Given the description of an element on the screen output the (x, y) to click on. 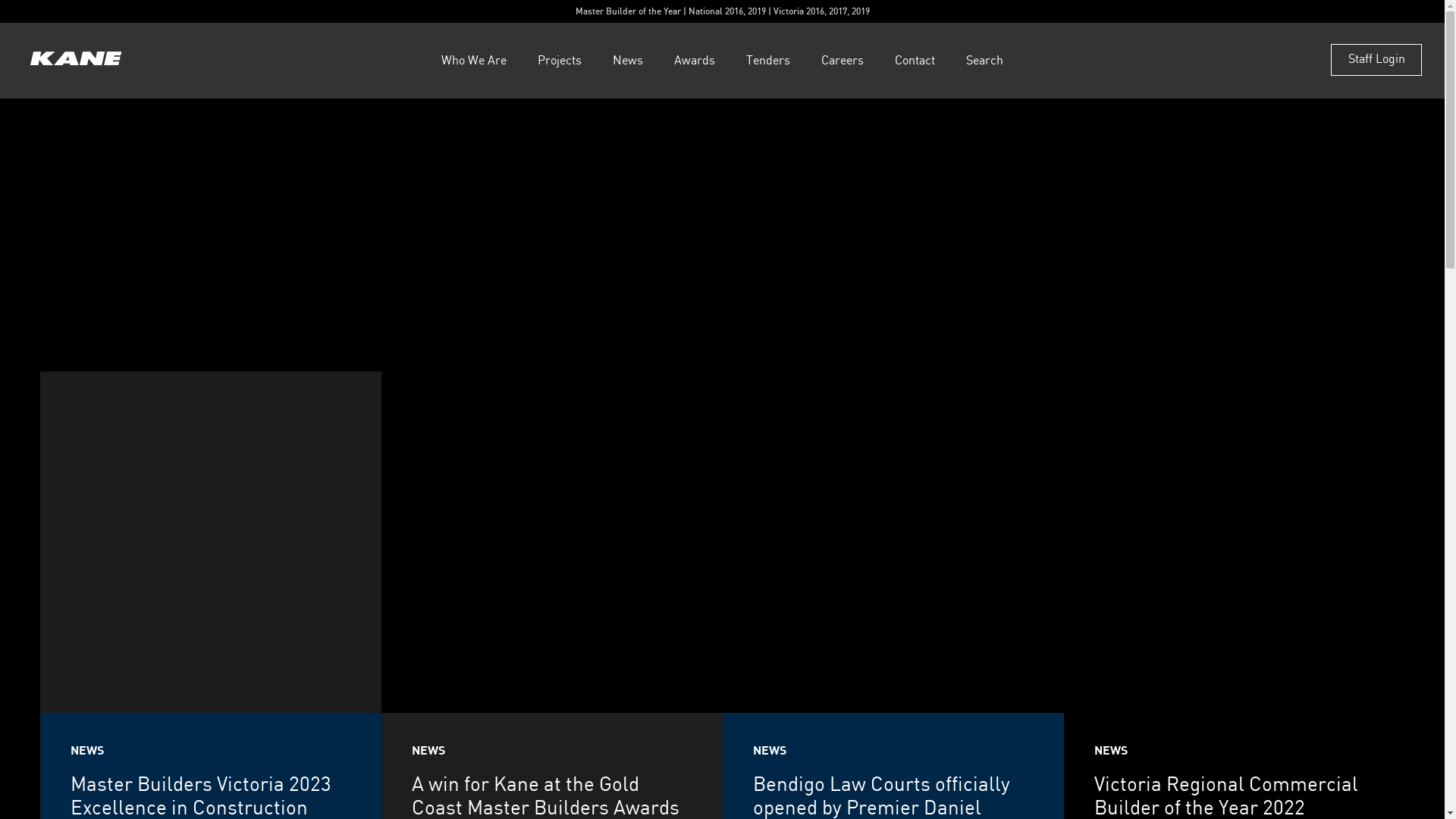
Kane Constructions Element type: hover (75, 60)
Tenders Element type: text (768, 60)
News Element type: text (627, 60)
Projects Element type: text (559, 60)
Careers Element type: text (842, 60)
Awards Element type: text (694, 60)
Contact Element type: text (914, 60)
Who We Are Element type: text (473, 60)
Staff Login Element type: text (1375, 59)
Search Element type: text (984, 60)
